Given the description of an element on the screen output the (x, y) to click on. 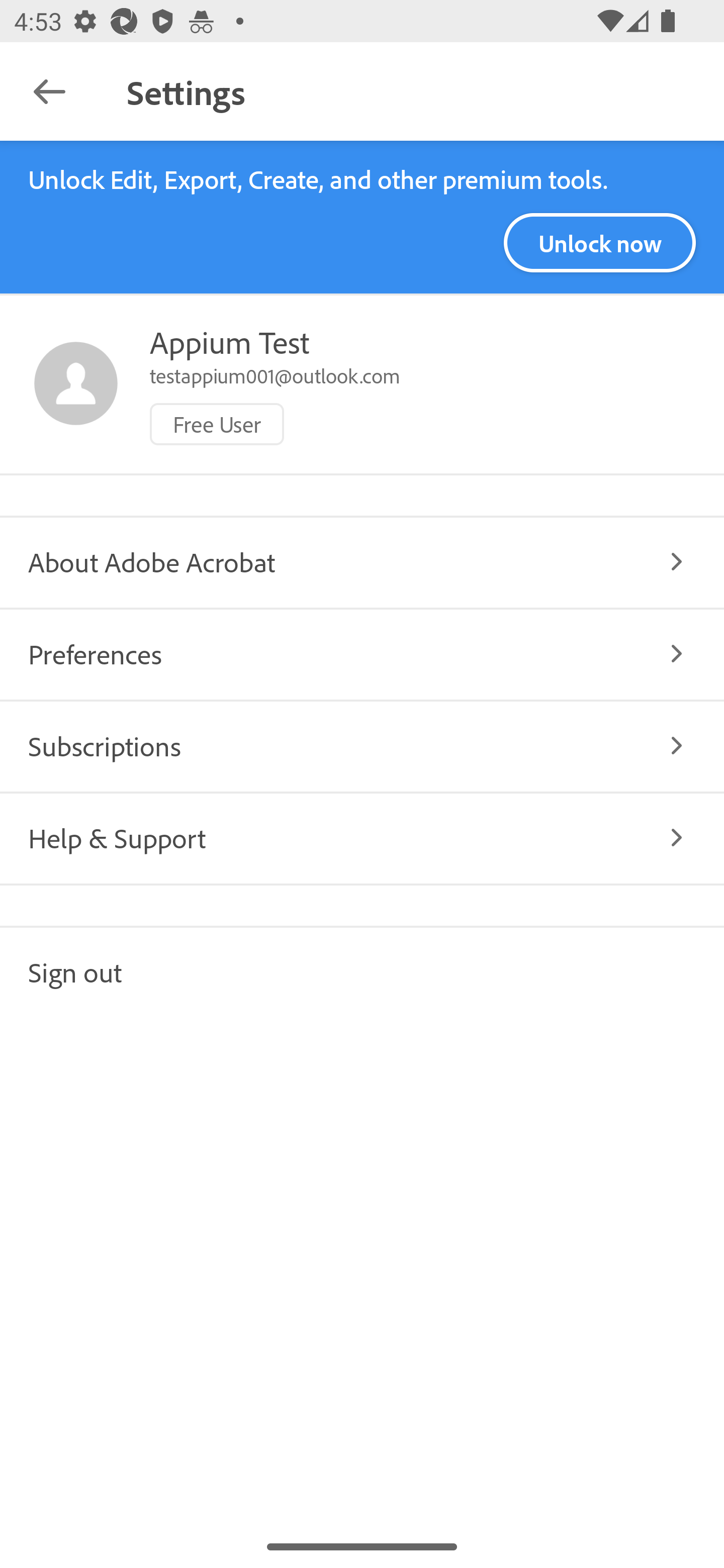
Navigate up (49, 91)
Unlock now (599, 242)
About Adobe Acrobat (362, 561)
Preferences (362, 653)
Subscriptions (362, 745)
Help & Support (362, 836)
Sign out (362, 971)
